Given the description of an element on the screen output the (x, y) to click on. 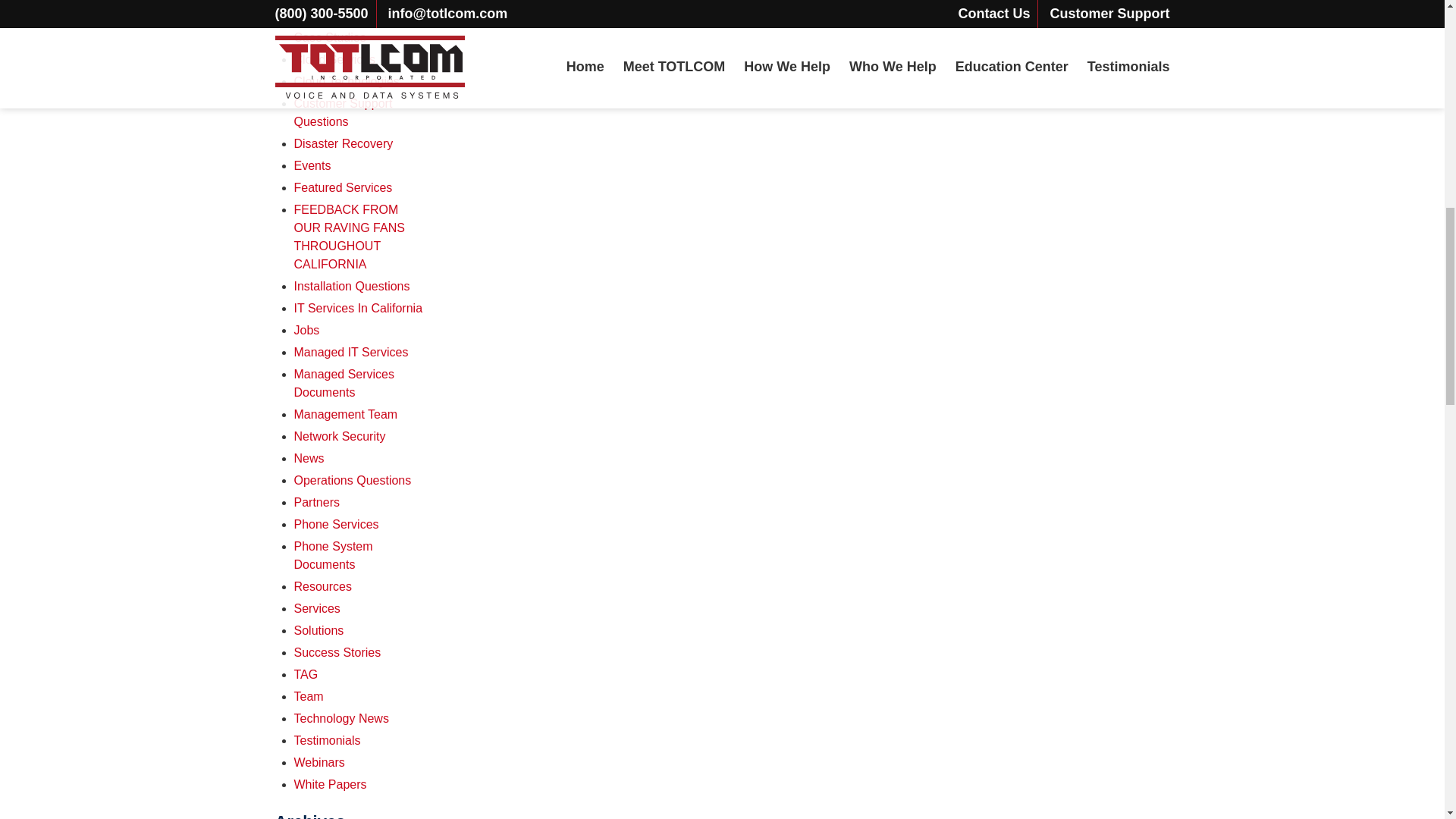
Cloud Services (334, 59)
Solutions (531, 14)
Cloud Technologies (346, 81)
Events (312, 164)
California Clients (339, 15)
FEEDBACK FROM OUR RAVING FANS THROUGHOUT CALIFORNIA (349, 237)
Disaster Recovery (343, 143)
Customer Support Questions (343, 112)
Featured Services (343, 187)
Case Studies (330, 37)
